Given the description of an element on the screen output the (x, y) to click on. 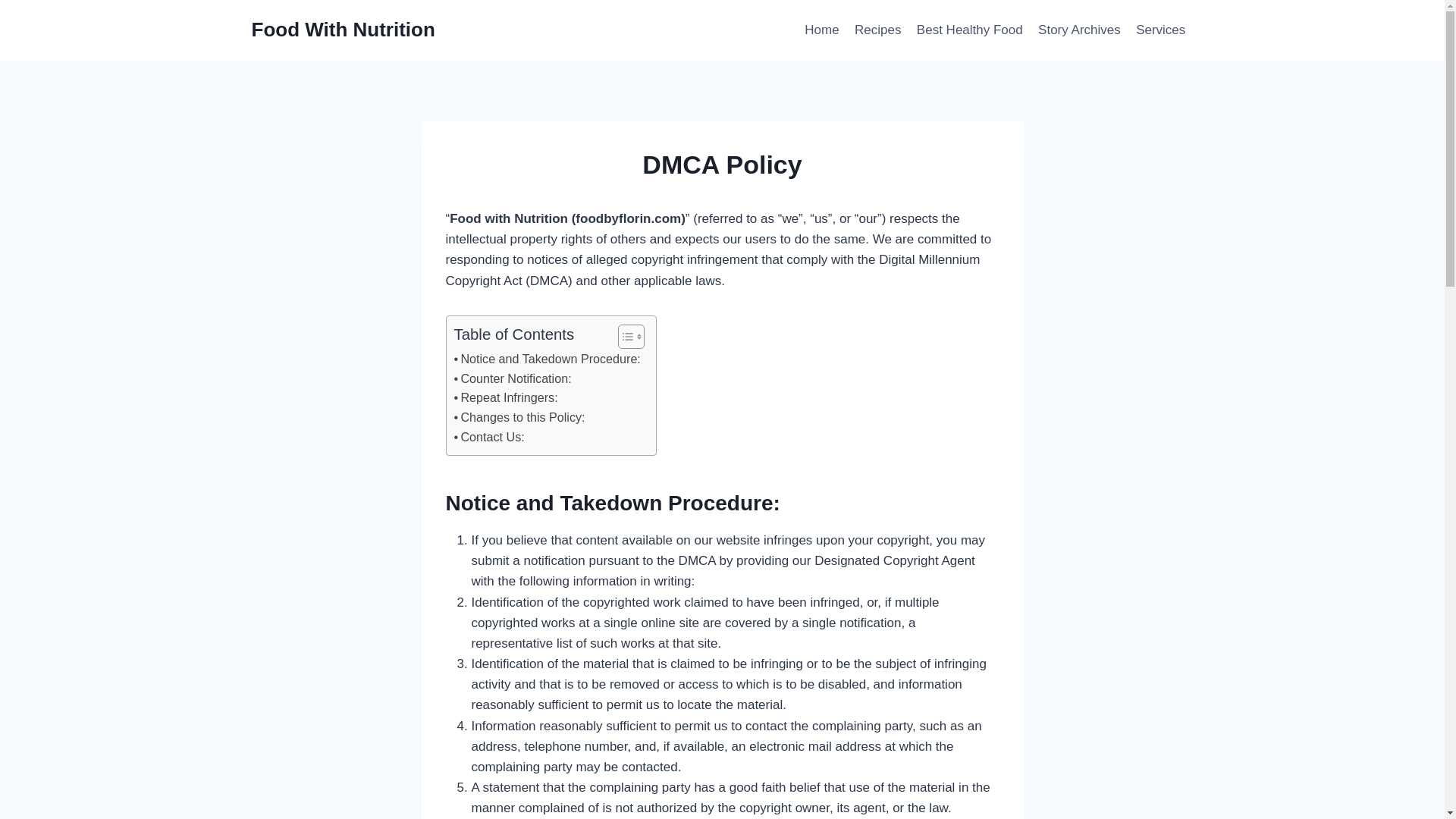
Notice and Takedown Procedure: (546, 359)
Notice and Takedown Procedure: (546, 359)
Best Healthy Food (969, 30)
Contact Us: (488, 437)
Counter Notification: (511, 379)
Changes to this Policy: (518, 417)
Contact Us: (488, 437)
Home (821, 30)
Repeat Infringers: (504, 397)
Recipes (877, 30)
Counter Notification: (511, 379)
Changes to this Policy: (518, 417)
Food With Nutrition (343, 29)
Repeat Infringers: (504, 397)
Services (1160, 30)
